Given the description of an element on the screen output the (x, y) to click on. 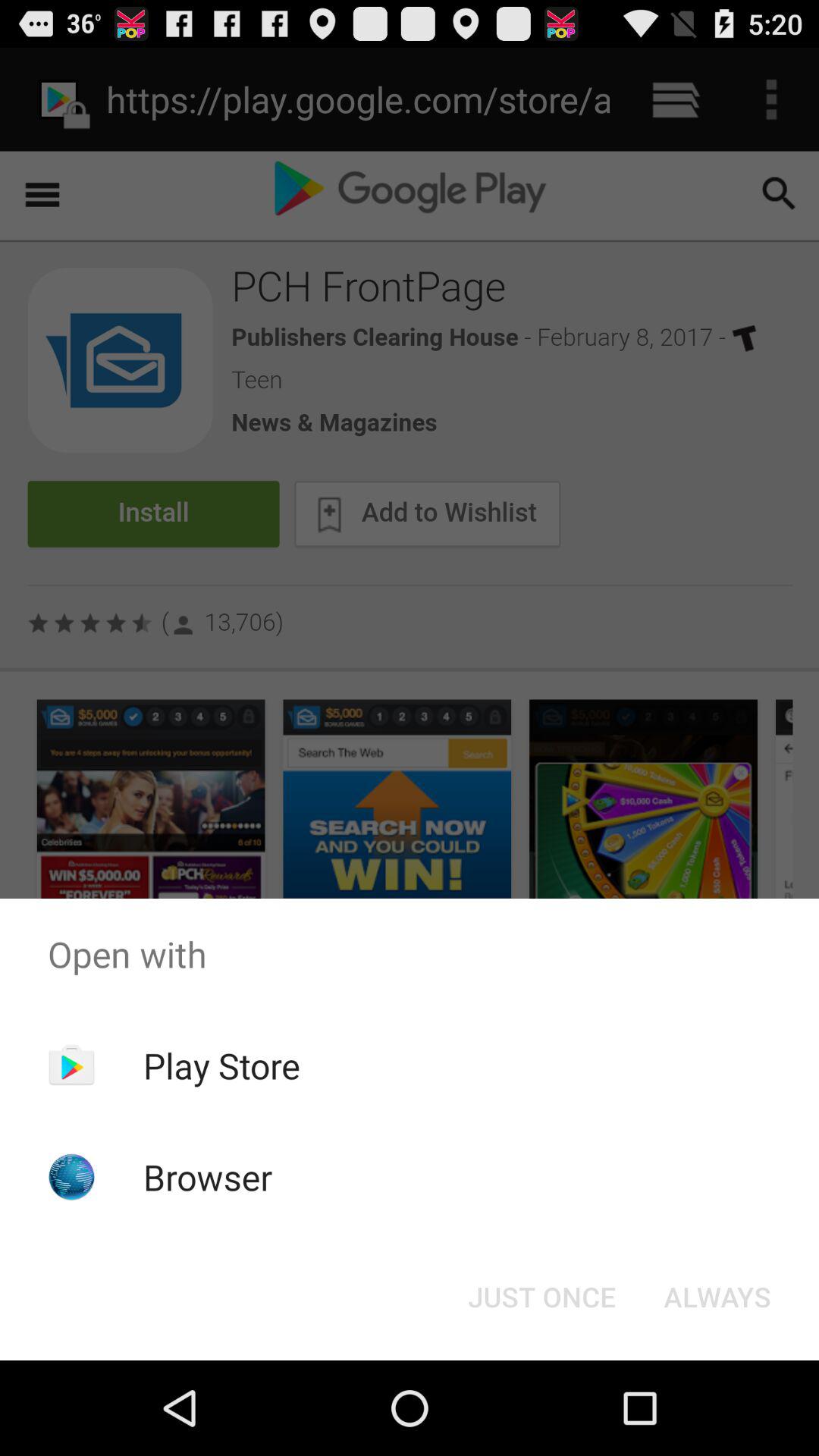
swipe to the play store item (221, 1065)
